Given the description of an element on the screen output the (x, y) to click on. 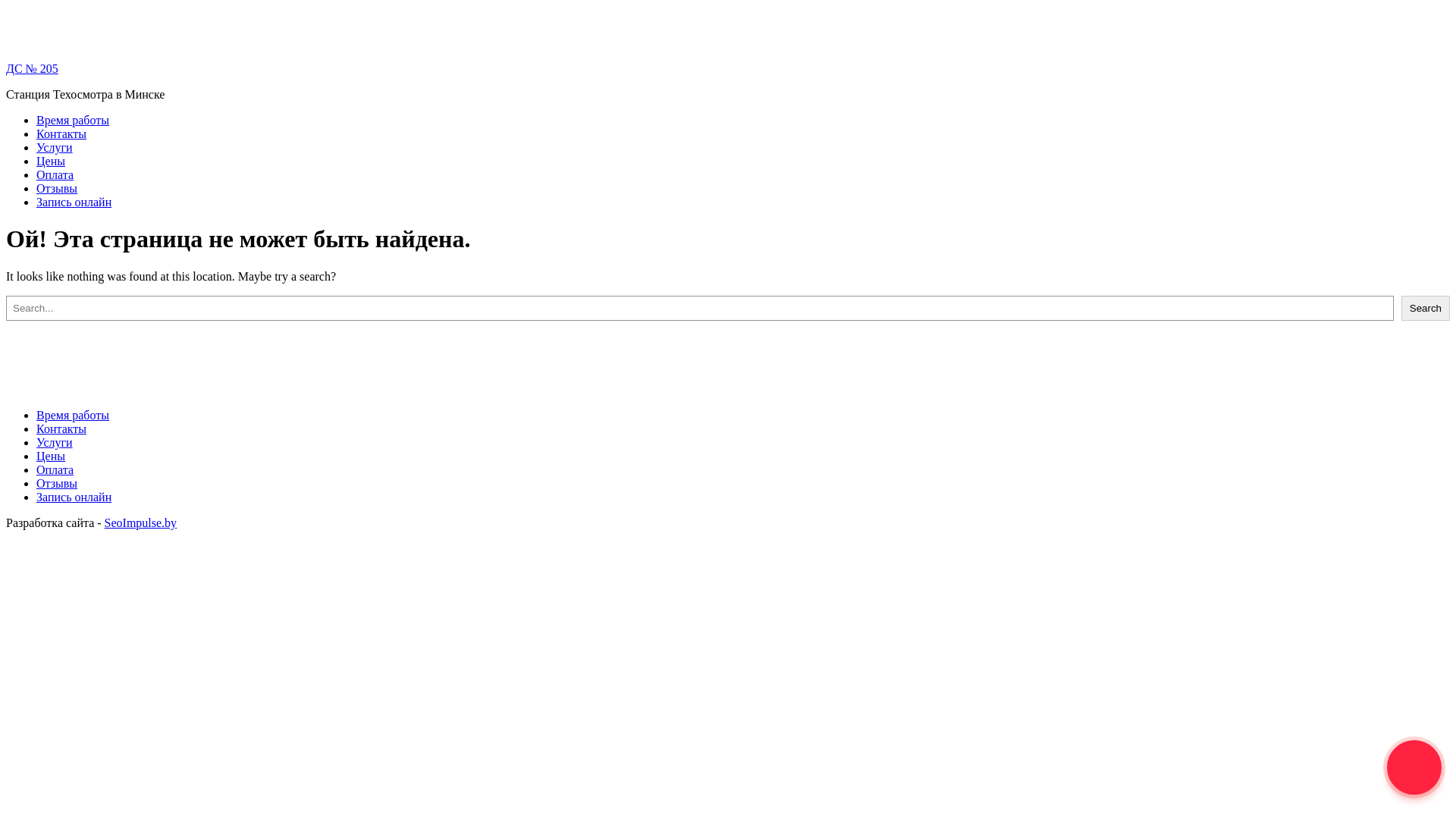
SeoImpulse.by Element type: text (140, 522)
Search Element type: text (1425, 307)
